Given the description of an element on the screen output the (x, y) to click on. 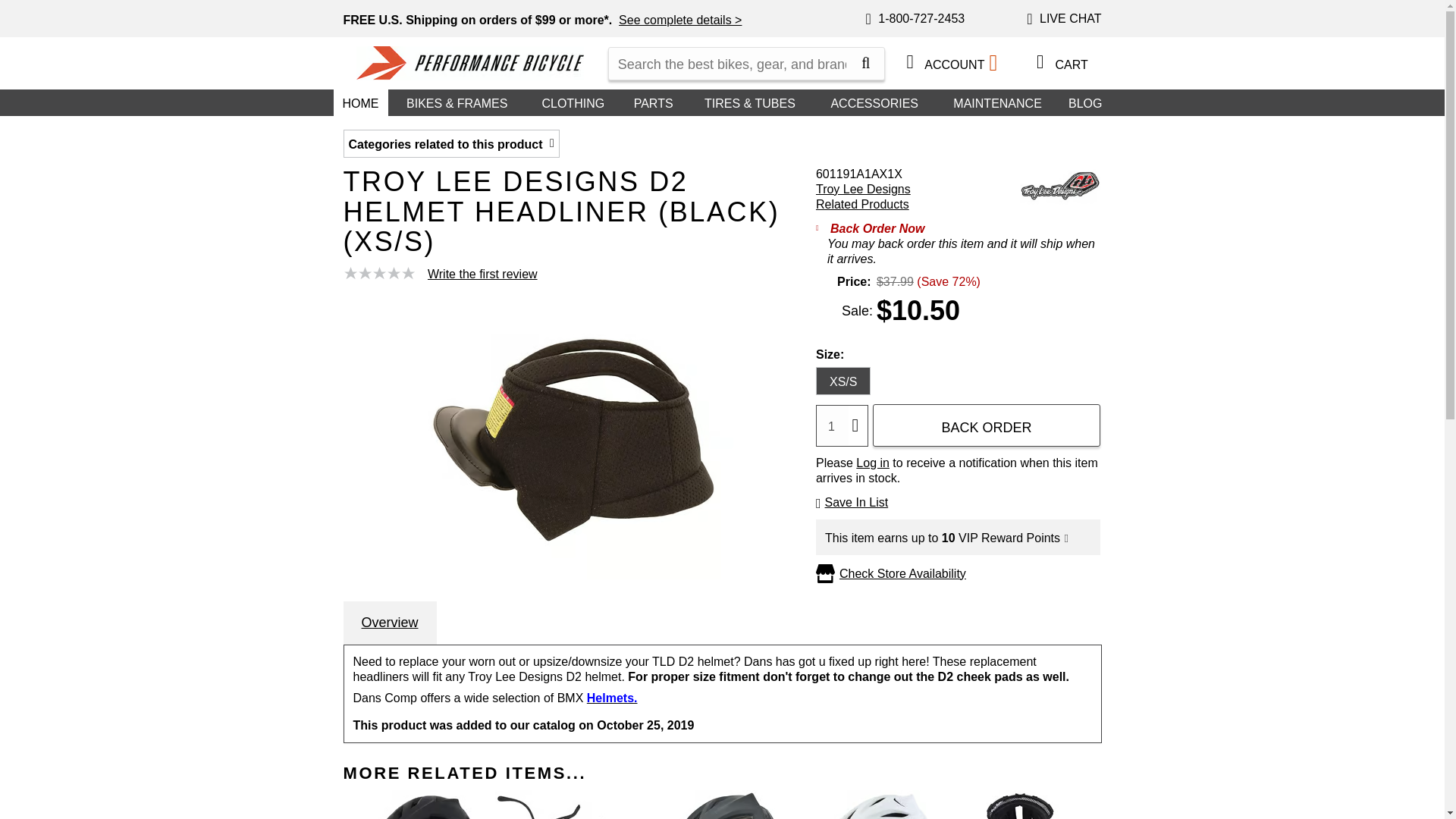
Click to Check Store Availability (903, 572)
HOME (360, 102)
CART (1057, 62)
LIVE CHAT (1063, 19)
CLOTHING (572, 102)
1-800-727-2453 (915, 19)
Performance Bicycle (469, 62)
ACCOUNT (950, 62)
My Account (909, 61)
